Given the description of an element on the screen output the (x, y) to click on. 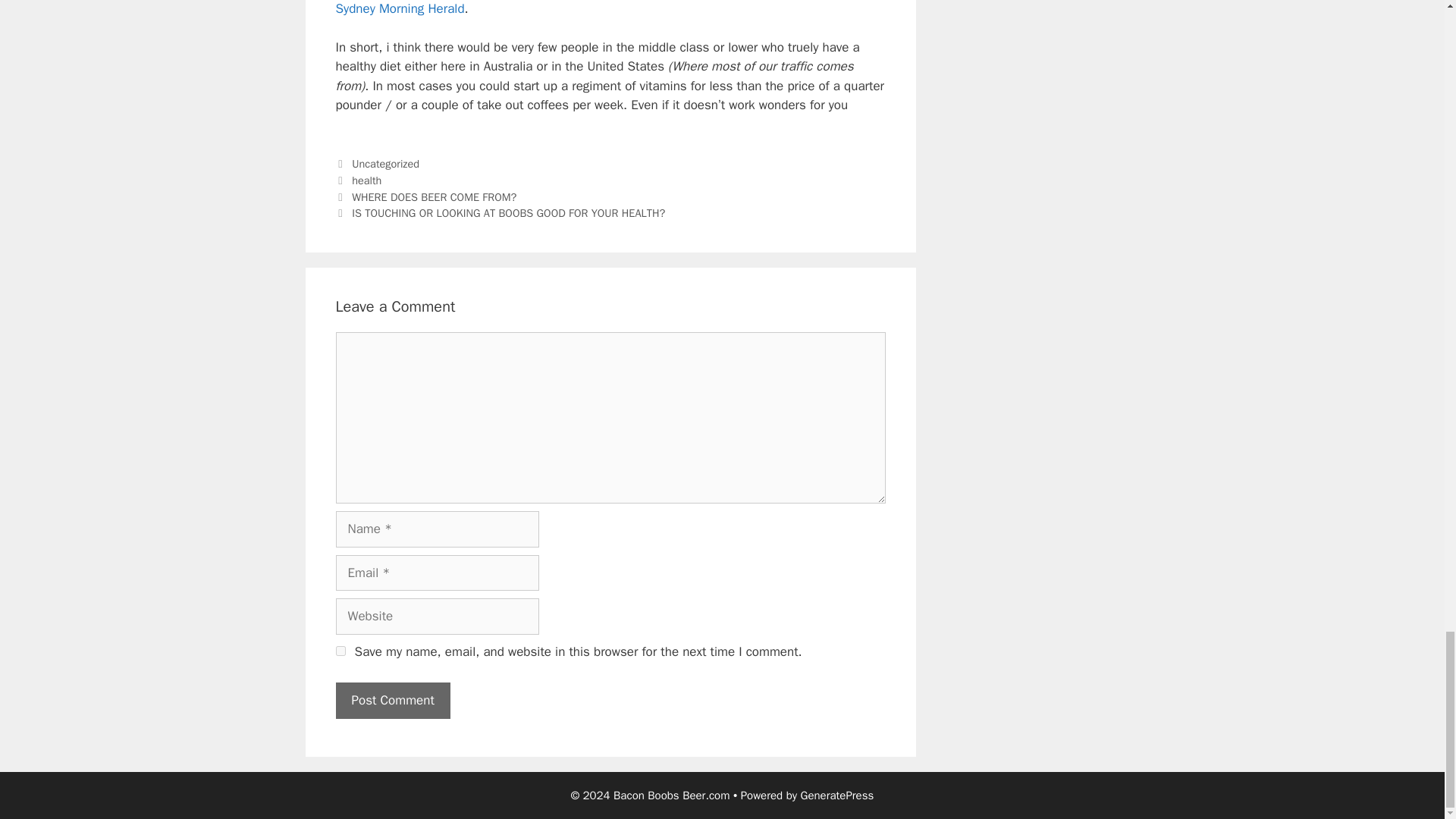
Uncategorized (385, 163)
Previous (425, 196)
yes (339, 651)
health (366, 180)
Post Comment (391, 700)
GeneratePress (837, 795)
Next (499, 213)
IS TOUCHING OR LOOKING AT BOOBS GOOD FOR YOUR HEALTH? (508, 213)
Post Comment (391, 700)
WHERE DOES BEER COME FROM? (434, 196)
Article from the Sydney Morning Herald (590, 8)
